Given the description of an element on the screen output the (x, y) to click on. 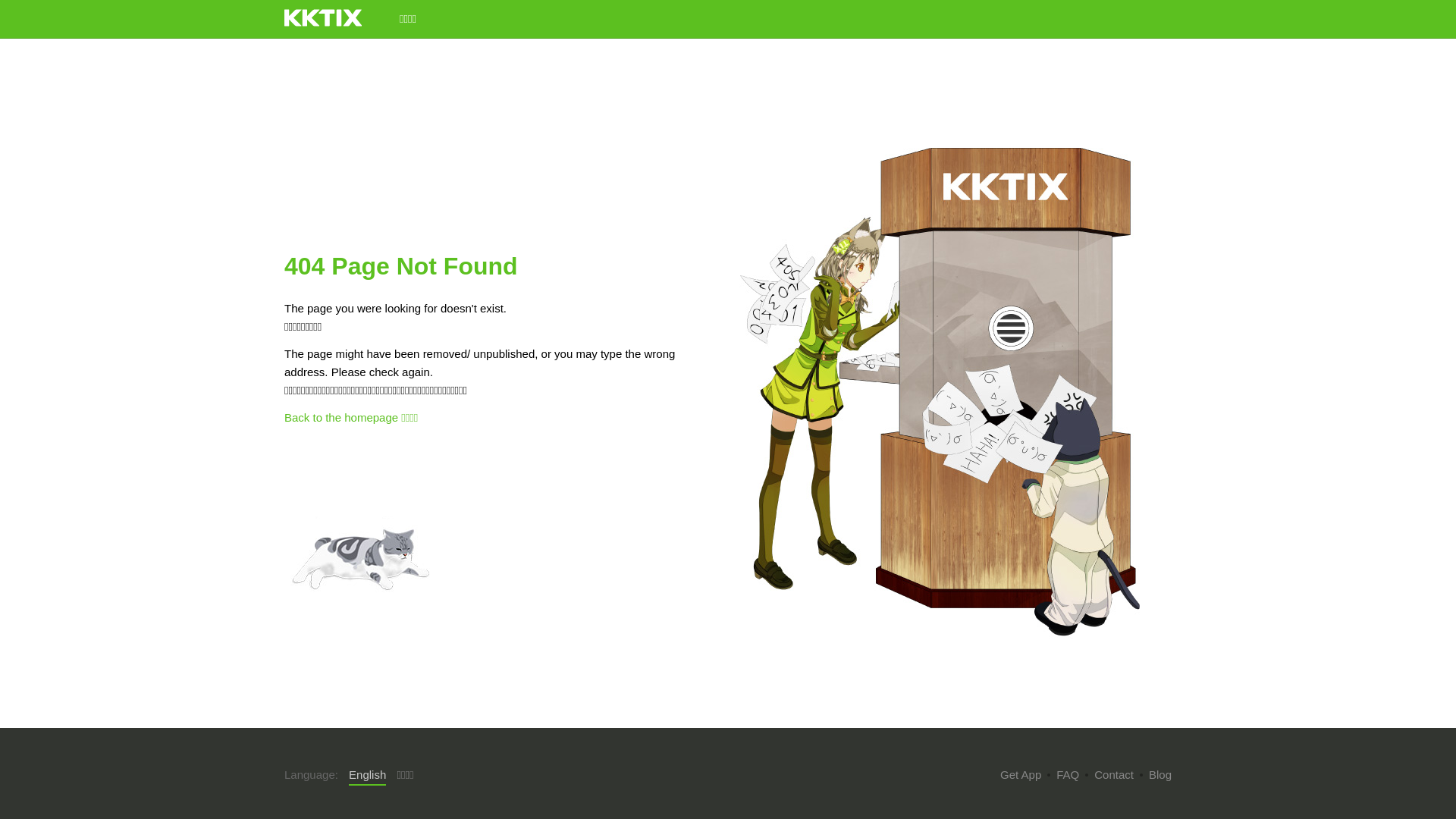
FAQ Element type: text (1067, 774)
Blog Element type: text (1159, 774)
Contact Element type: text (1113, 774)
KKTIX Element type: text (322, 17)
English Element type: text (366, 775)
Get App Element type: text (1020, 774)
